Given the description of an element on the screen output the (x, y) to click on. 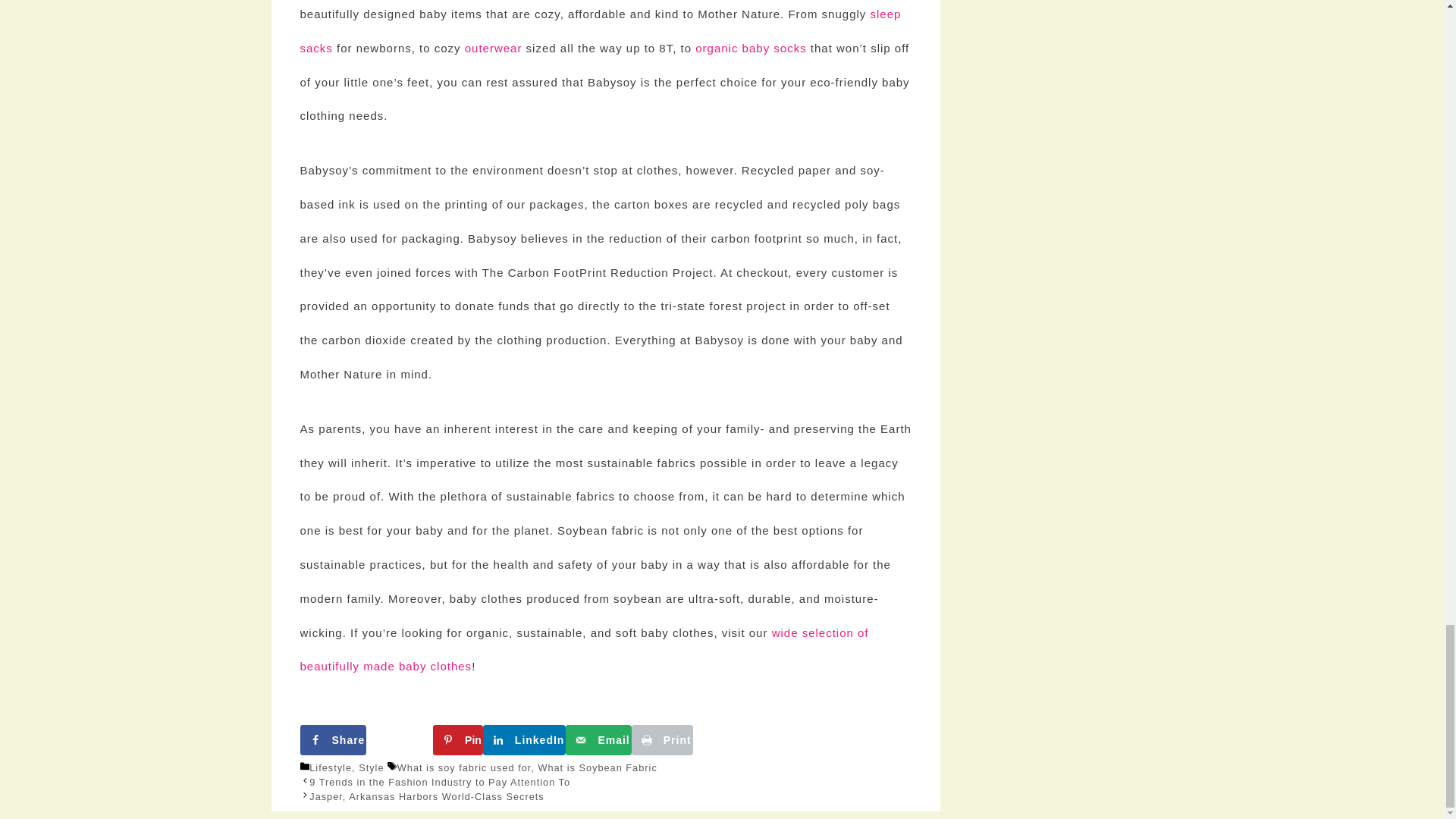
Send over email (598, 739)
Share on X (399, 739)
Share on Facebook (332, 739)
Print this webpage (662, 739)
Save to Pinterest (457, 739)
Share on LinkedIn (524, 739)
